Given the description of an element on the screen output the (x, y) to click on. 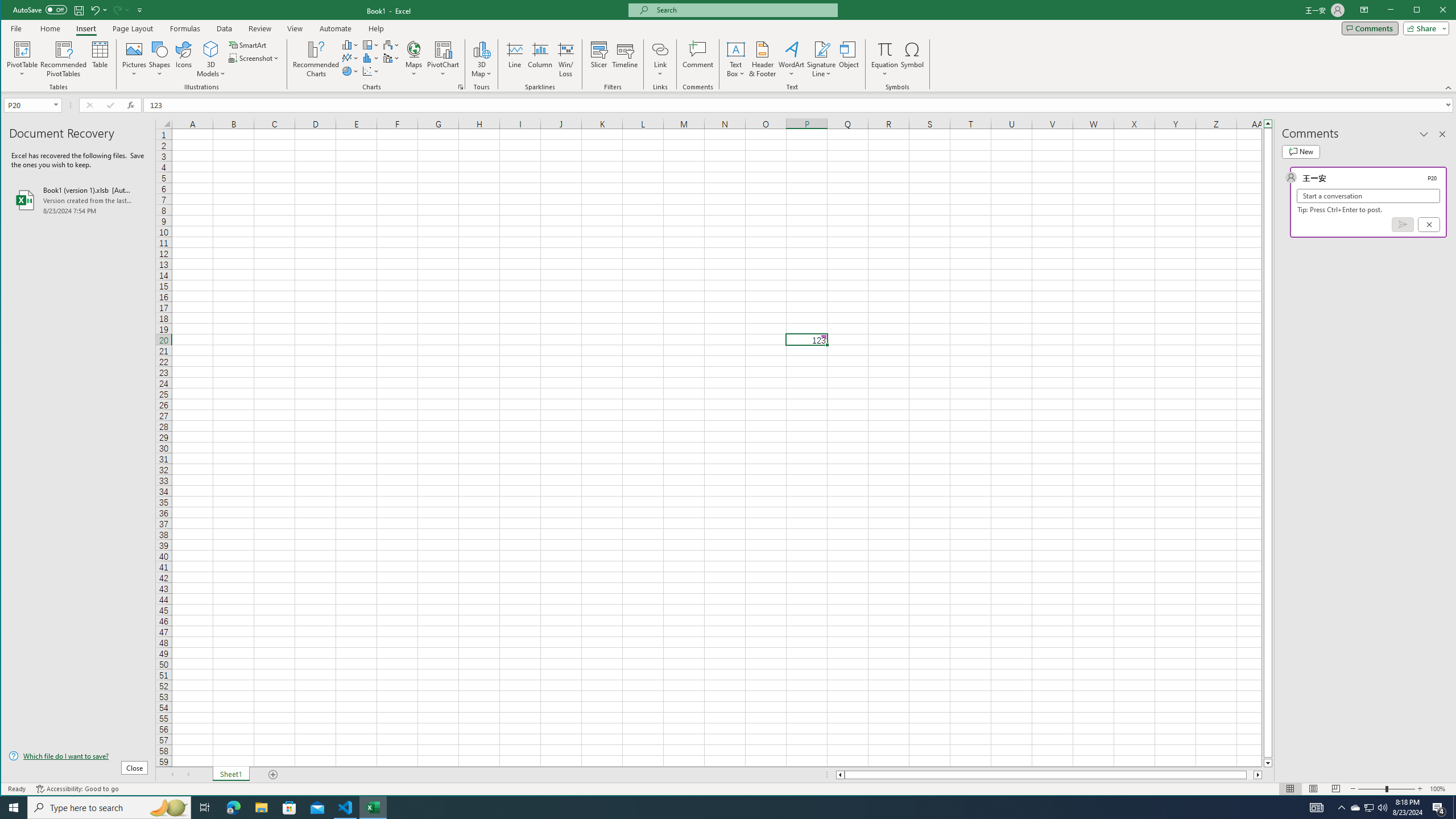
PivotTable (22, 48)
Visual Studio Code - 1 running window (345, 807)
Task Pane Options (1423, 133)
PivotChart (1355, 807)
Timeline (443, 59)
